Given the description of an element on the screen output the (x, y) to click on. 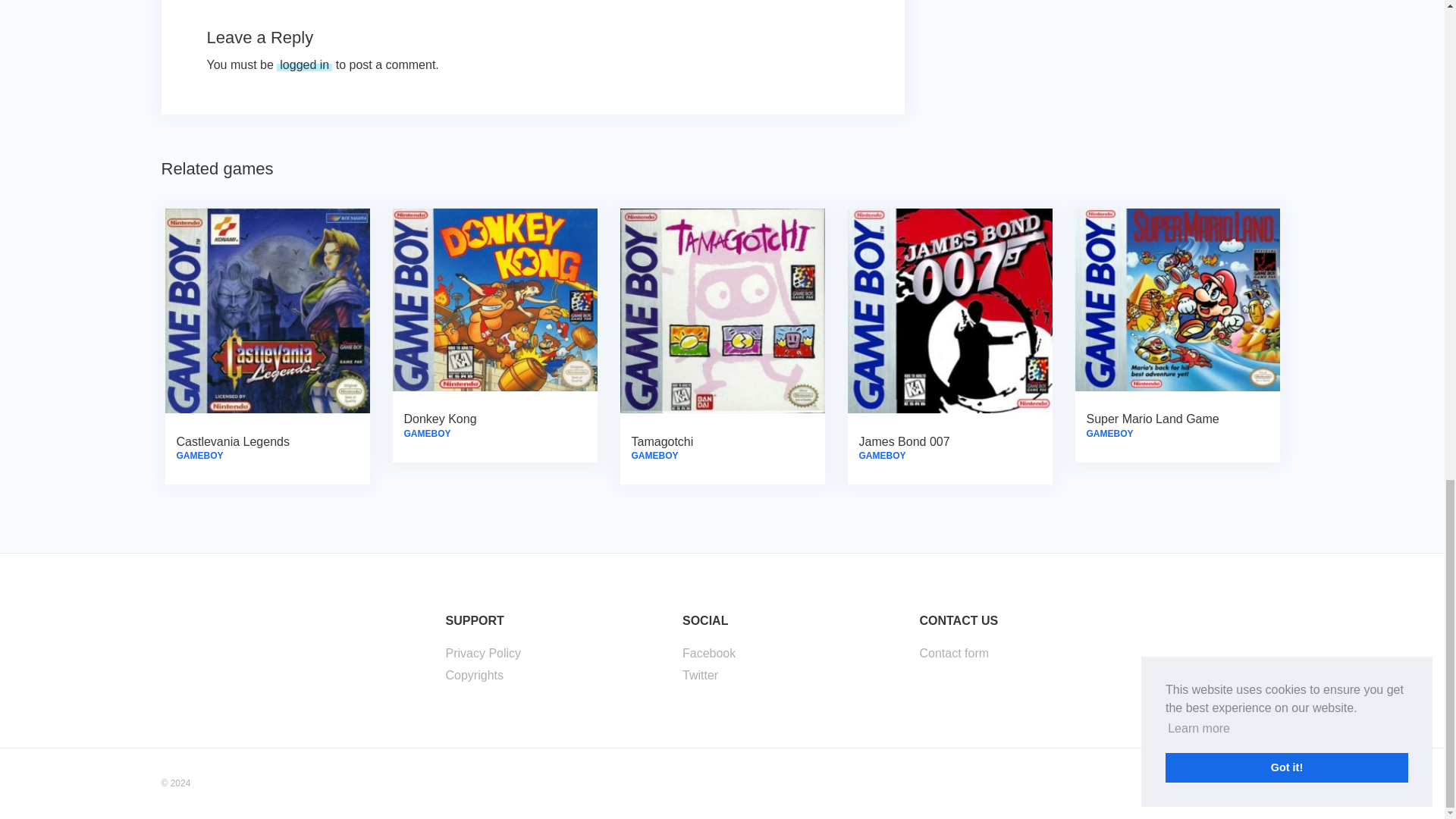
logged in (303, 64)
